Given the description of an element on the screen output the (x, y) to click on. 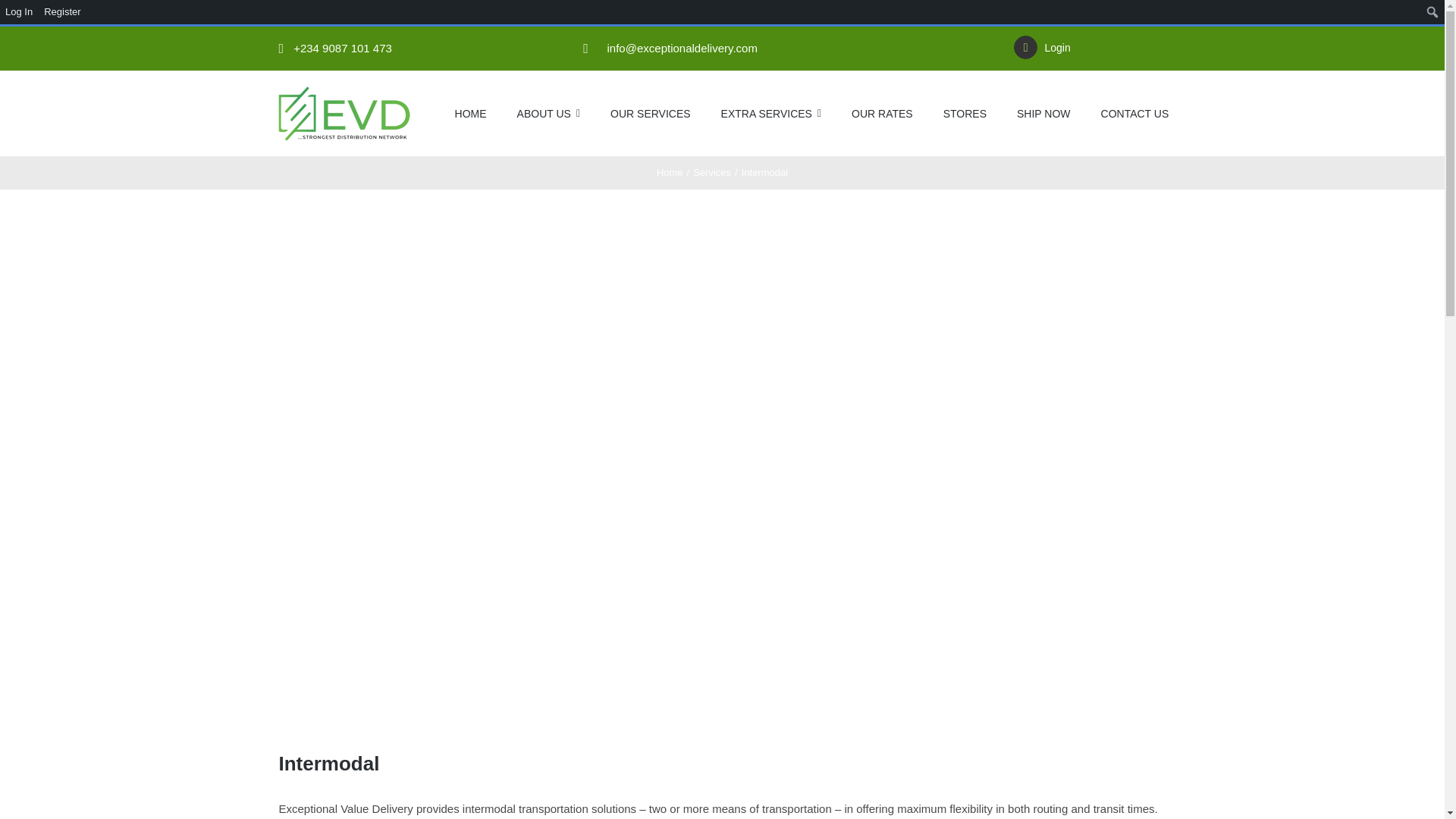
Register (62, 12)
EXTRA SERVICES (770, 113)
OUR SERVICES (650, 113)
OUR RATES (881, 113)
SHIP NOW (1043, 113)
Log In (19, 12)
Services (711, 172)
Home (669, 172)
ABOUT US (547, 113)
CONTACT US (1134, 113)
STORES (965, 113)
Search (16, 13)
